Given the description of an element on the screen output the (x, y) to click on. 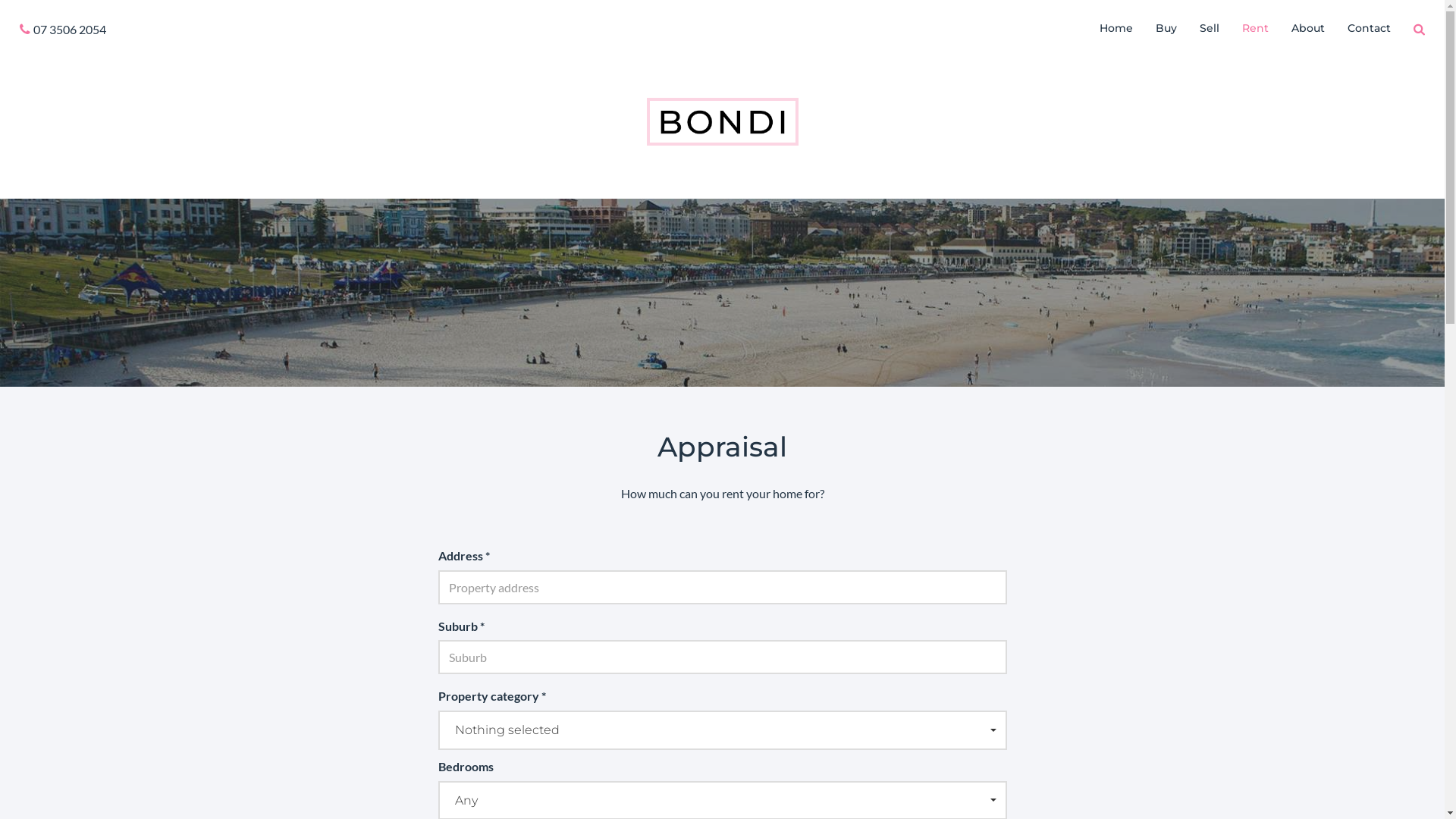
Nothing selected
  Element type: text (722, 729)
About Element type: text (1308, 27)
Contact Element type: text (1369, 27)
Quick property search Element type: hover (1419, 29)
Home Element type: text (1116, 27)
Your Agency Element type: hover (721, 119)
Sell Element type: text (1209, 27)
Buy Element type: text (1166, 27)
Rent Element type: text (1255, 27)
